Given the description of an element on the screen output the (x, y) to click on. 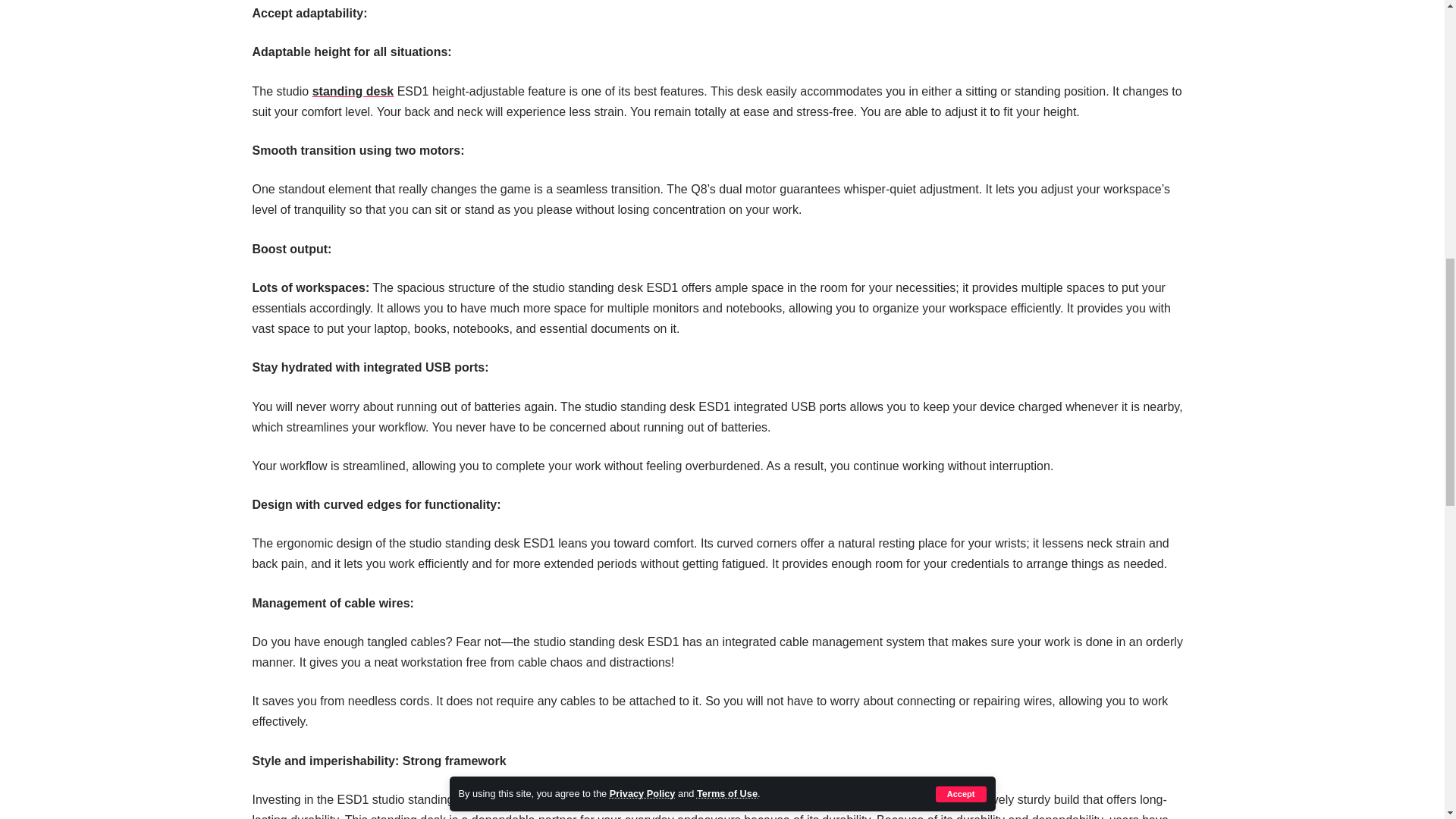
standing desk (353, 91)
